Given the description of an element on the screen output the (x, y) to click on. 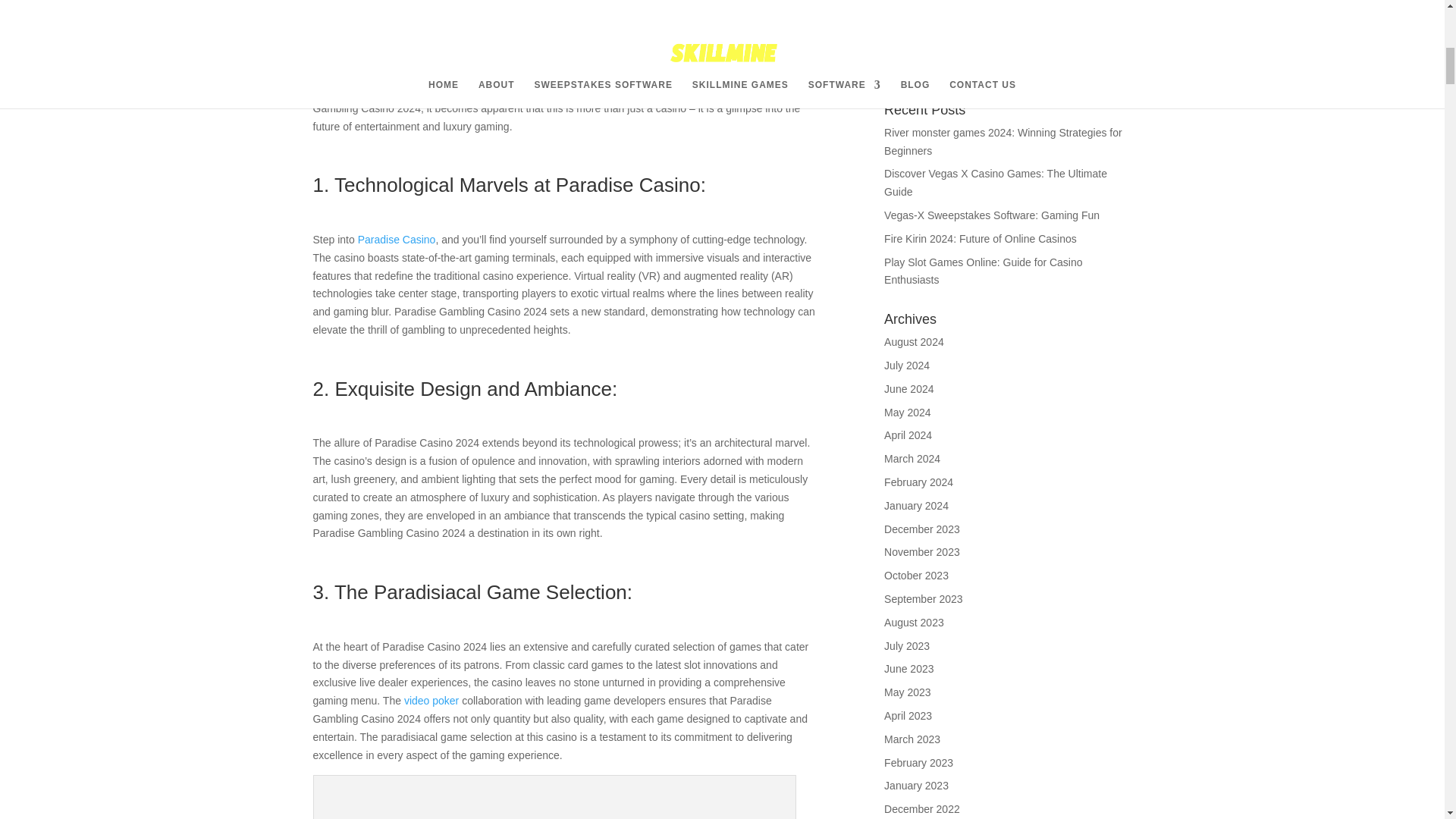
video poker (431, 700)
Search (1104, 64)
Discover Vegas X Casino Games: The Ultimate Guide (994, 182)
Search (1104, 64)
River monster games 2024: Winning Strategies for Beginners (1002, 141)
Paradise Casino (396, 239)
